Given the description of an element on the screen output the (x, y) to click on. 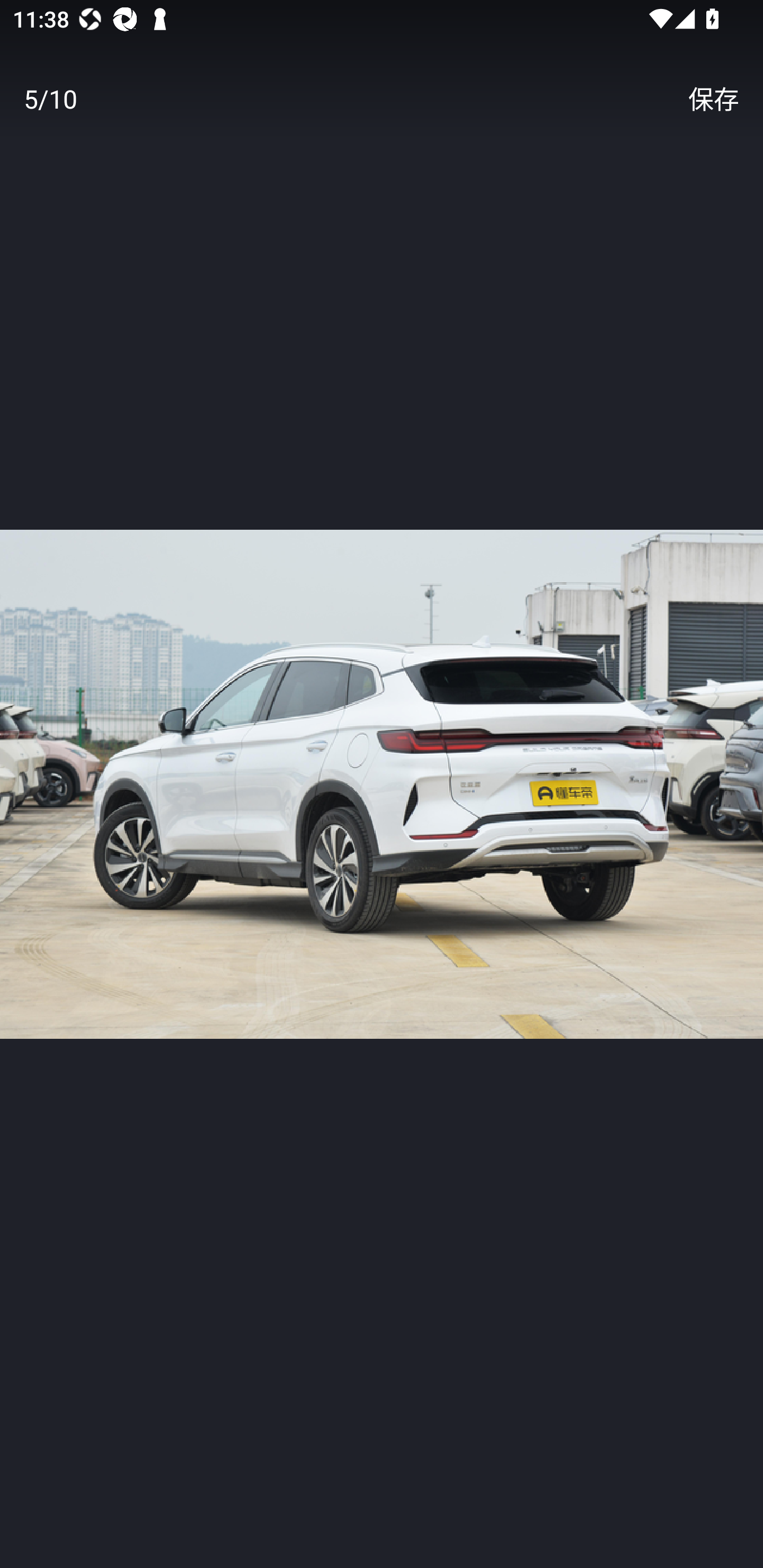
保存 (713, 98)
